Given the description of an element on the screen output the (x, y) to click on. 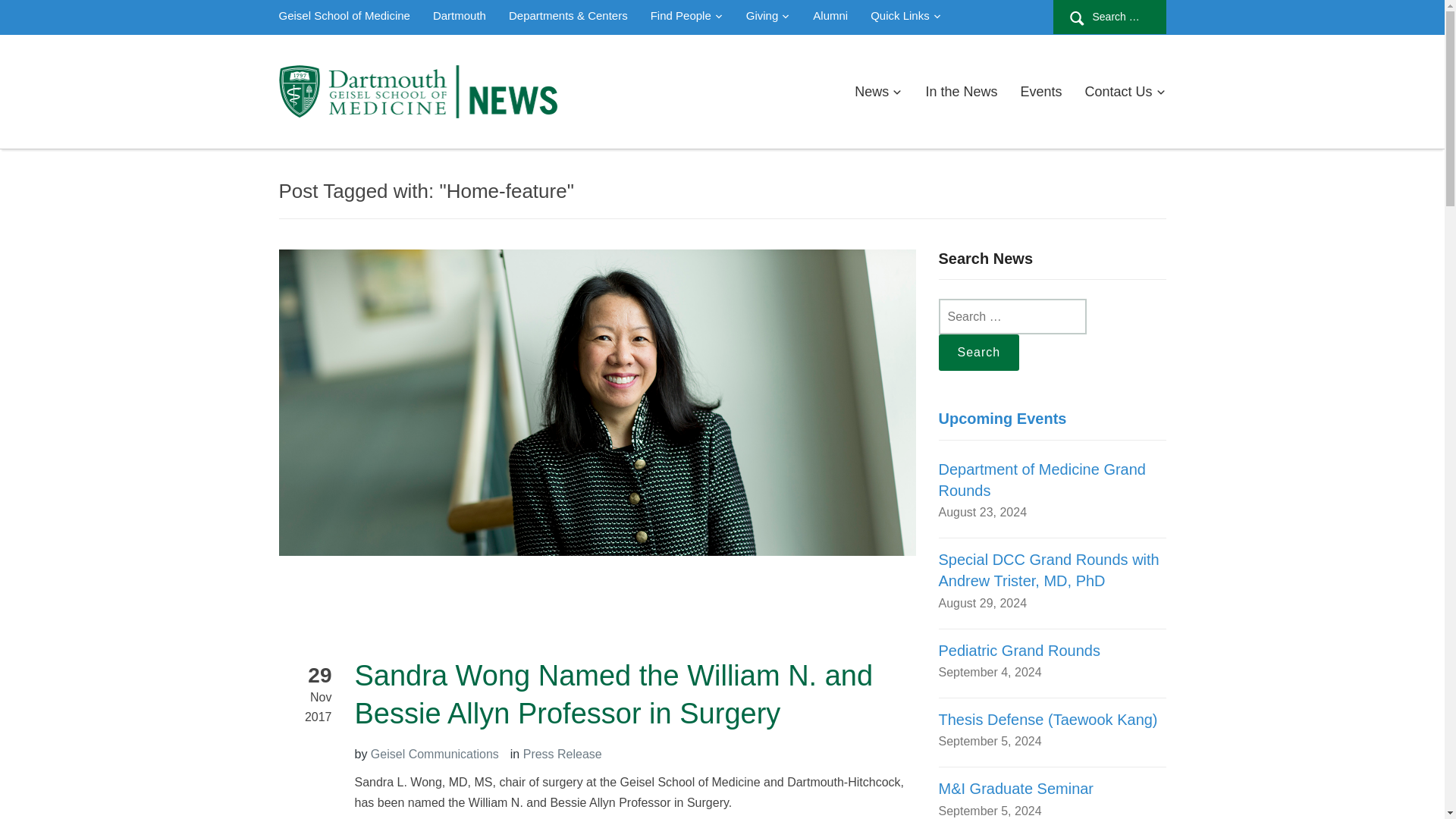
Posts by Geisel Communications (435, 753)
Search (979, 352)
Search (979, 352)
